Given the description of an element on the screen output the (x, y) to click on. 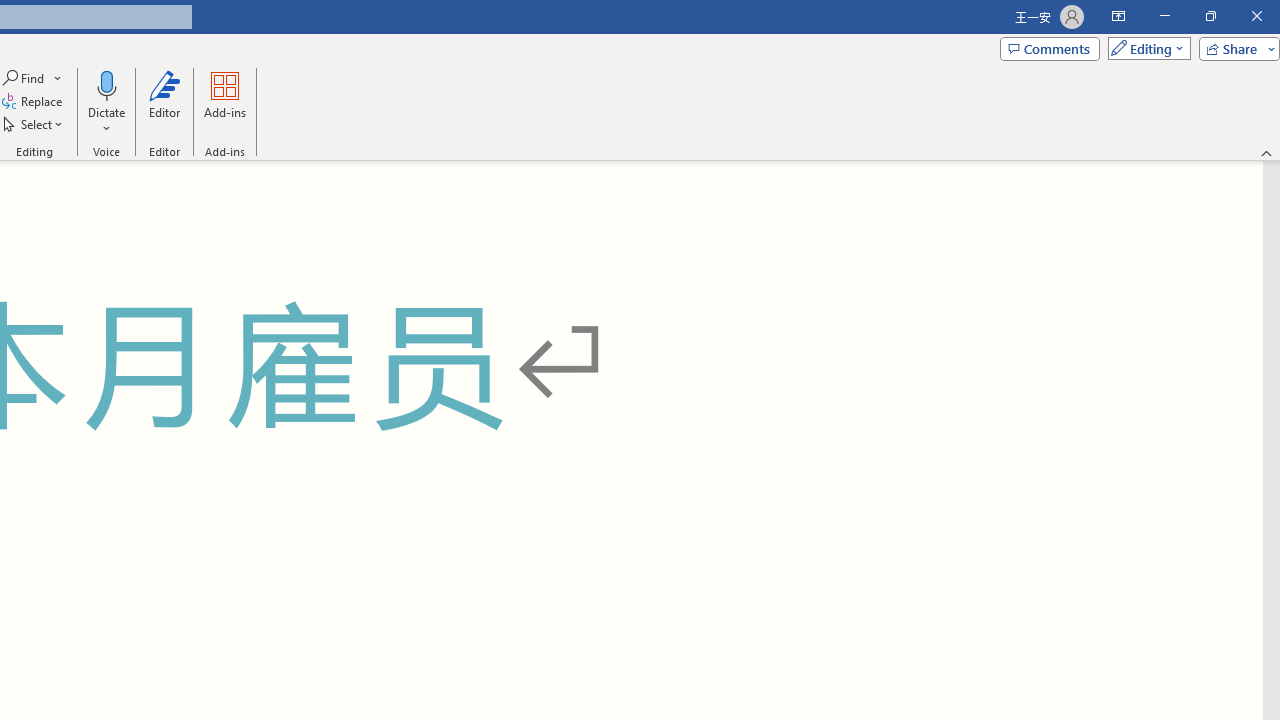
Editing (1144, 47)
